Given the description of an element on the screen output the (x, y) to click on. 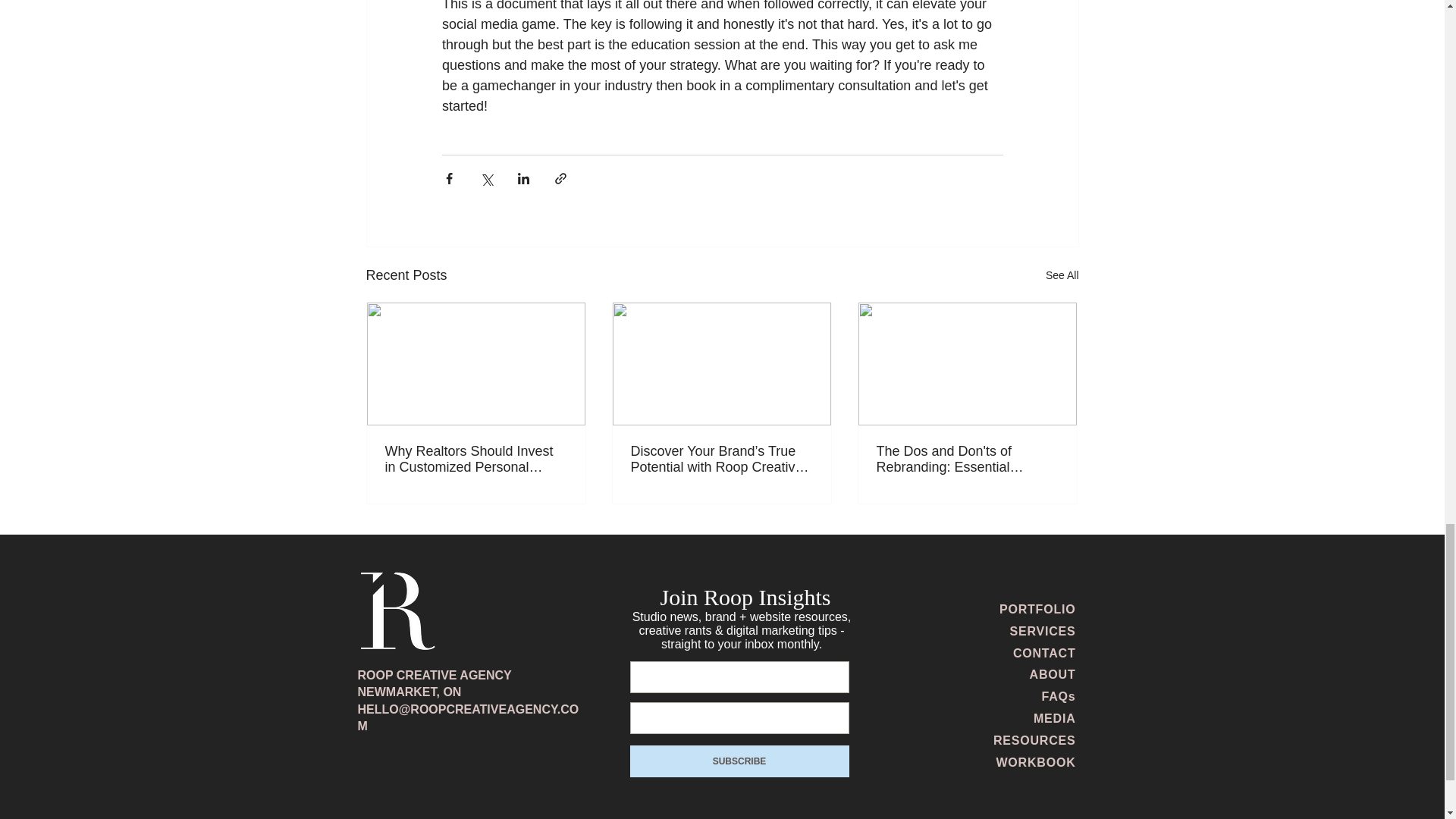
See All (1061, 275)
ROOP CREATIVE AGENCY (435, 675)
PORTFOLIO (1036, 608)
SUBSCRIBE (738, 761)
